Given the description of an element on the screen output the (x, y) to click on. 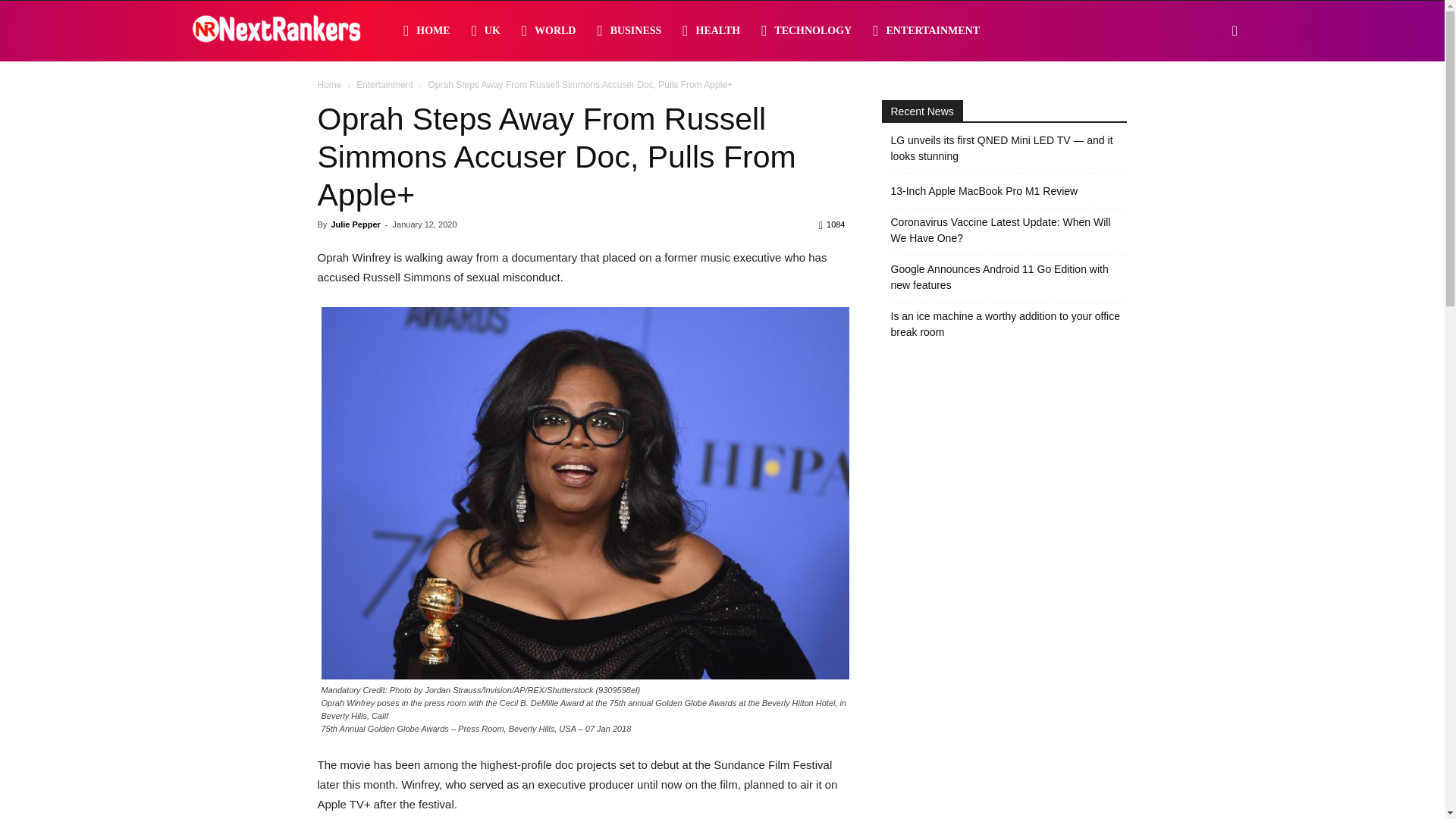
Julie Pepper (355, 224)
BUSINESS (628, 30)
HOME (427, 30)
NextRankers (275, 31)
Latest News On Your Fingertips (275, 31)
WORLD (548, 30)
View all posts in Entertainment (384, 84)
Entertainment (384, 84)
HEALTH (711, 30)
ENTERTAINMENT (925, 30)
